Given the description of an element on the screen output the (x, y) to click on. 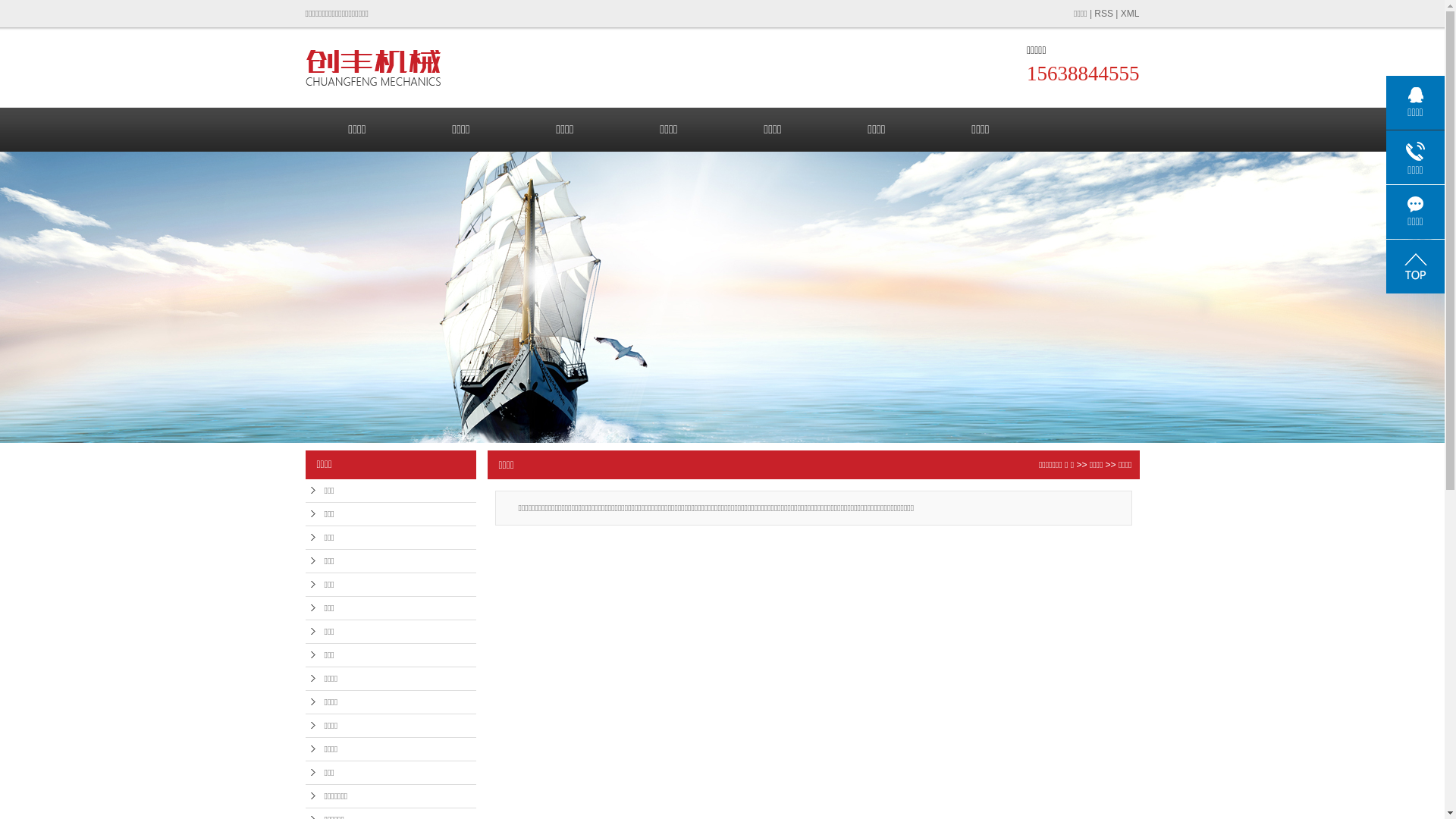
XML Element type: text (1129, 13)
RSS Element type: text (1103, 13)
